Given the description of an element on the screen output the (x, y) to click on. 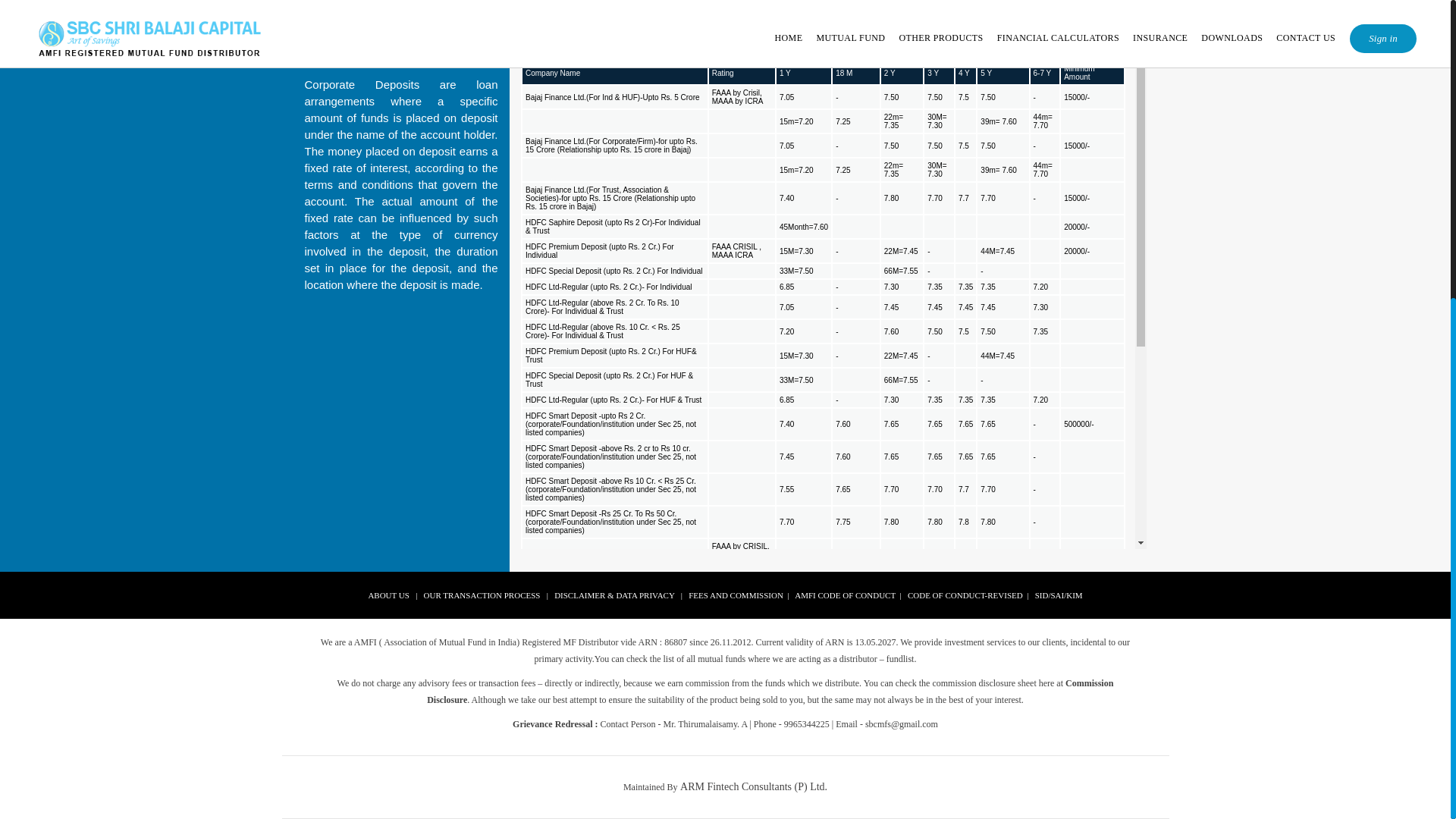
Commission Disclosure (769, 691)
FEES AND COMMISSION (735, 594)
OUR TRANSACTION PROCESS (481, 594)
ABOUT US (388, 594)
fundlist. (901, 658)
AMFI CODE OF CONDUCT (844, 594)
CODE OF CONDUCT-REVISED (965, 594)
